Given the description of an element on the screen output the (x, y) to click on. 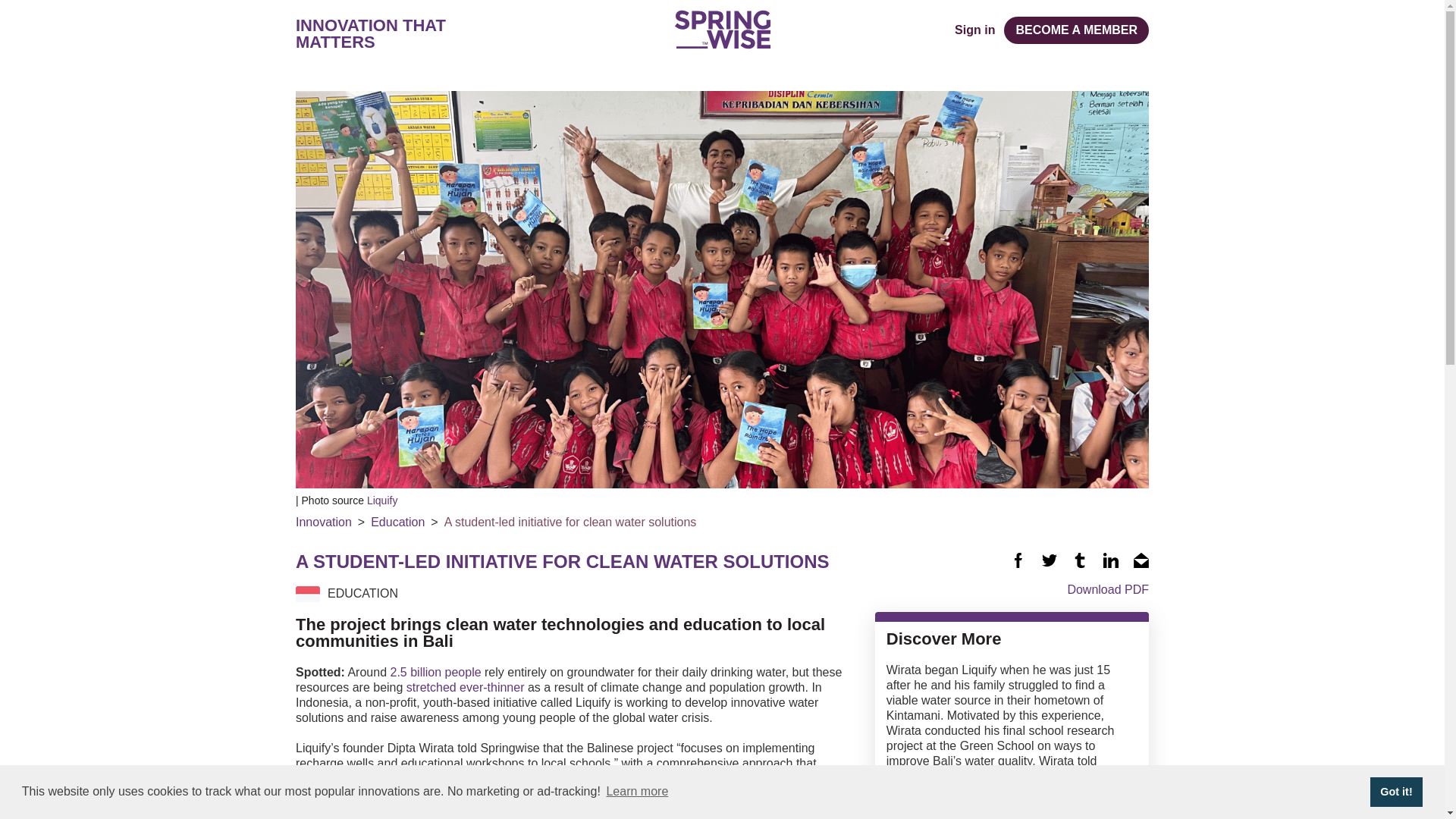
Facebook (1018, 559)
Innovation (323, 521)
Twitter (1049, 559)
BECOME A MEMBER (1076, 30)
Liquify (381, 500)
Home (721, 29)
Education (398, 521)
Tumblr (1079, 559)
Learn more (636, 791)
2.5 billion people (435, 671)
Springwise (721, 29)
Download PDF (1011, 589)
stretched ever-thinner (465, 686)
Linked In (1110, 559)
Sign in (974, 30)
